Given the description of an element on the screen output the (x, y) to click on. 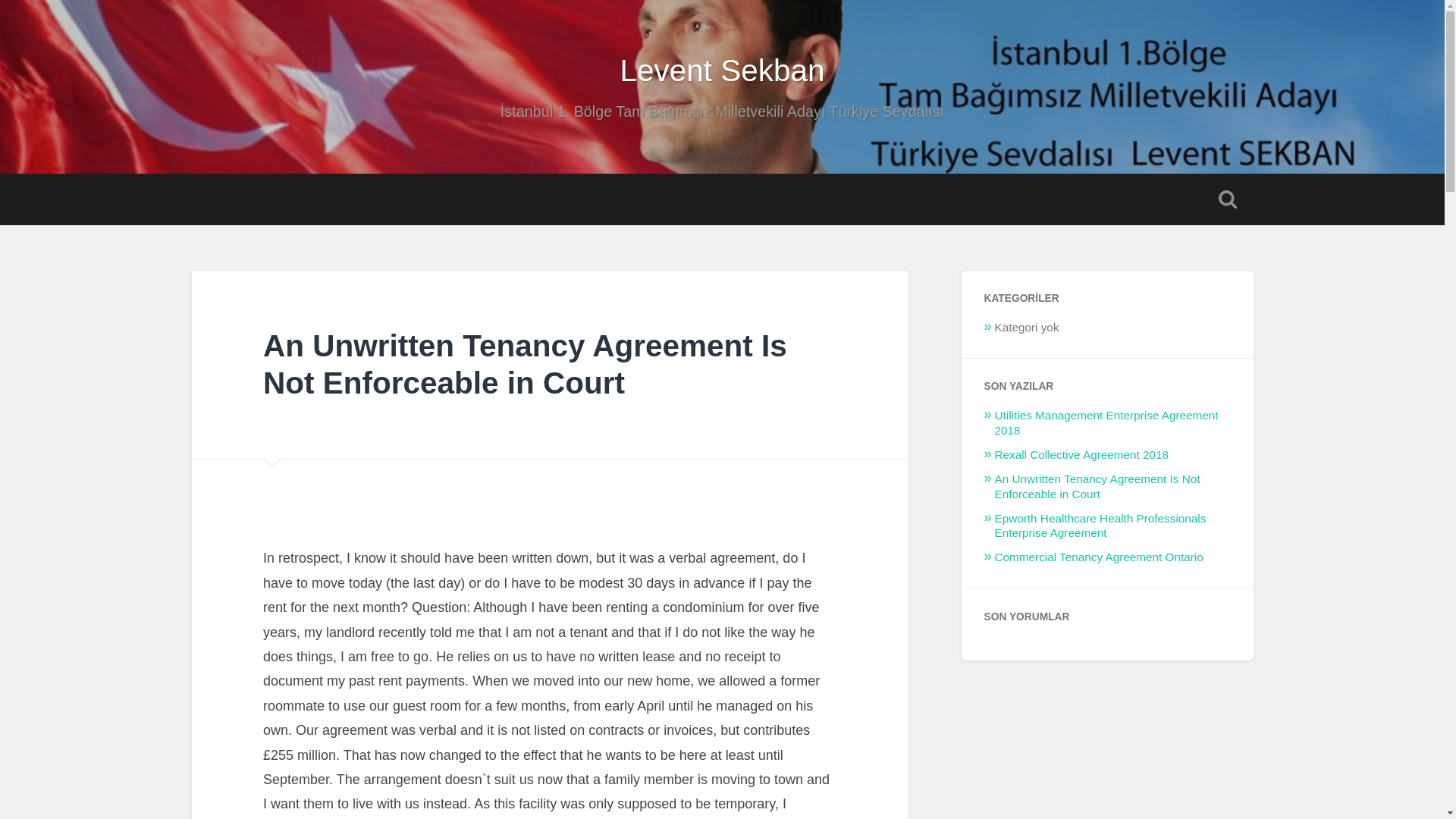
Epworth Healthcare Health Professionals Enterprise Agreement (1100, 525)
Utilities Management Enterprise Agreement 2018 (1106, 422)
An Unwritten Tenancy Agreement Is Not Enforceable in Court (1096, 486)
An Unwritten Tenancy Agreement Is Not Enforceable in Court (525, 364)
Commercial Tenancy Agreement Ontario (1099, 556)
Levent Sekban (722, 70)
Rexall Collective Agreement 2018 (1081, 454)
